Given the description of an element on the screen output the (x, y) to click on. 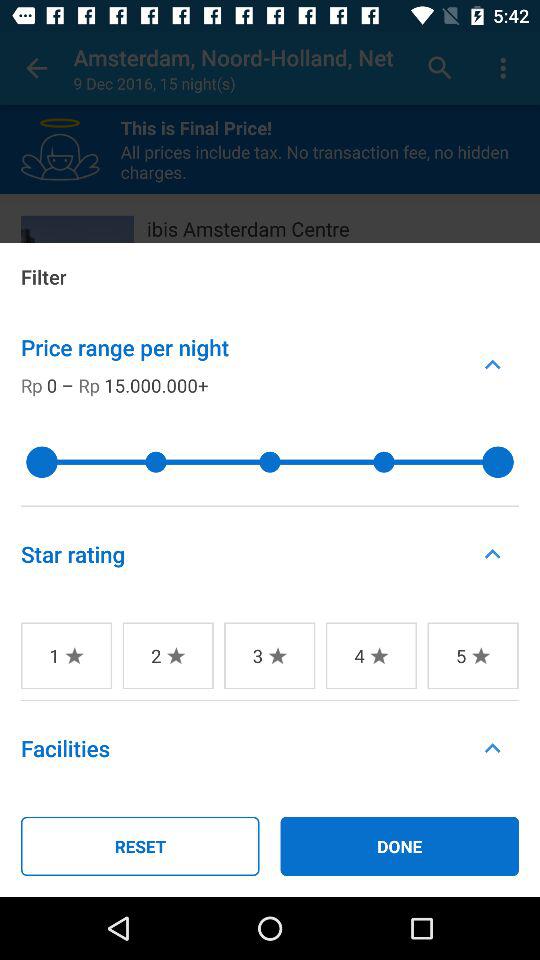
click the item next to the reset (399, 846)
